Given the description of an element on the screen output the (x, y) to click on. 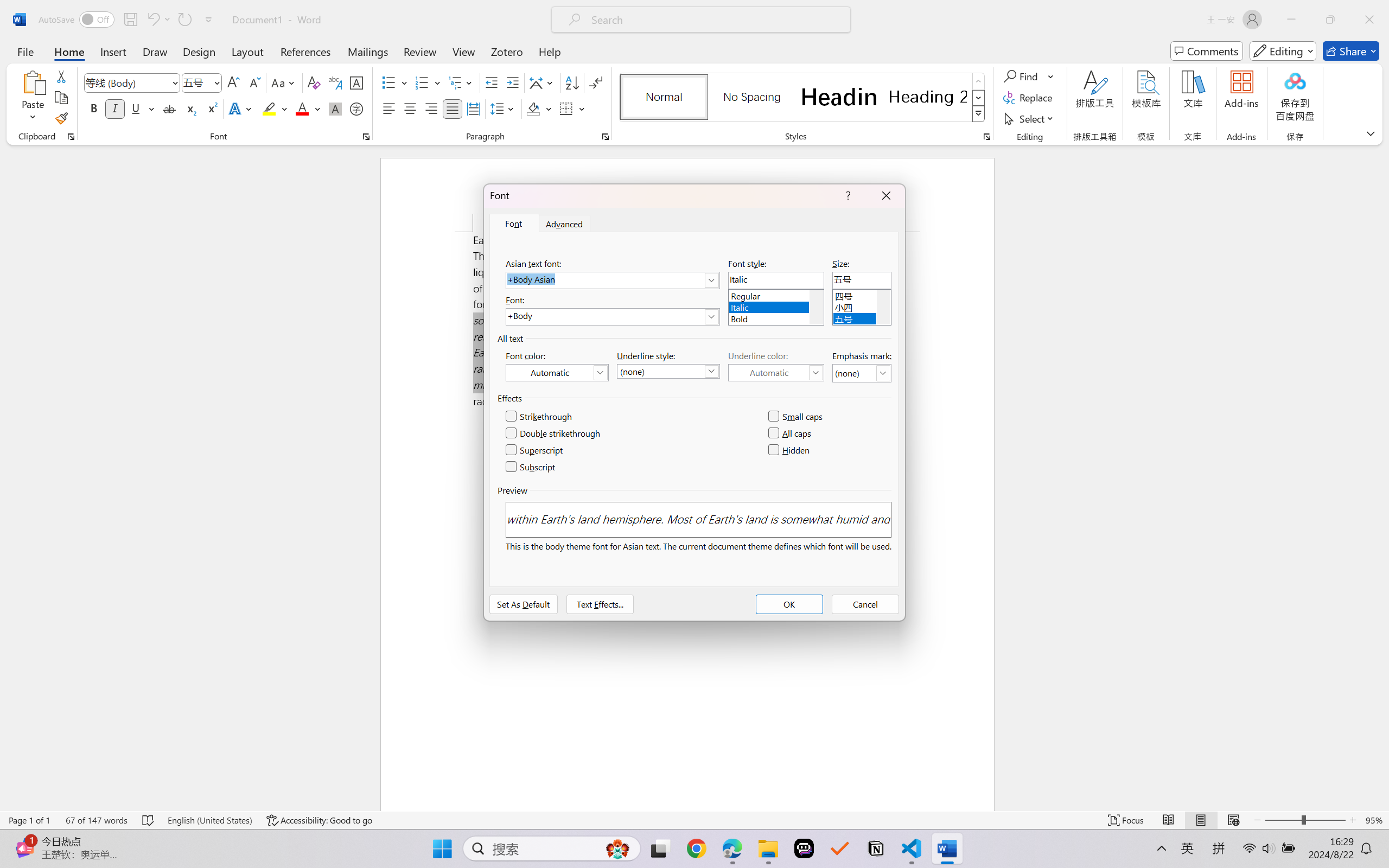
Strikethrough (539, 416)
Open (215, 82)
Undo Italic (152, 19)
Font Color (308, 108)
